Given the description of an element on the screen output the (x, y) to click on. 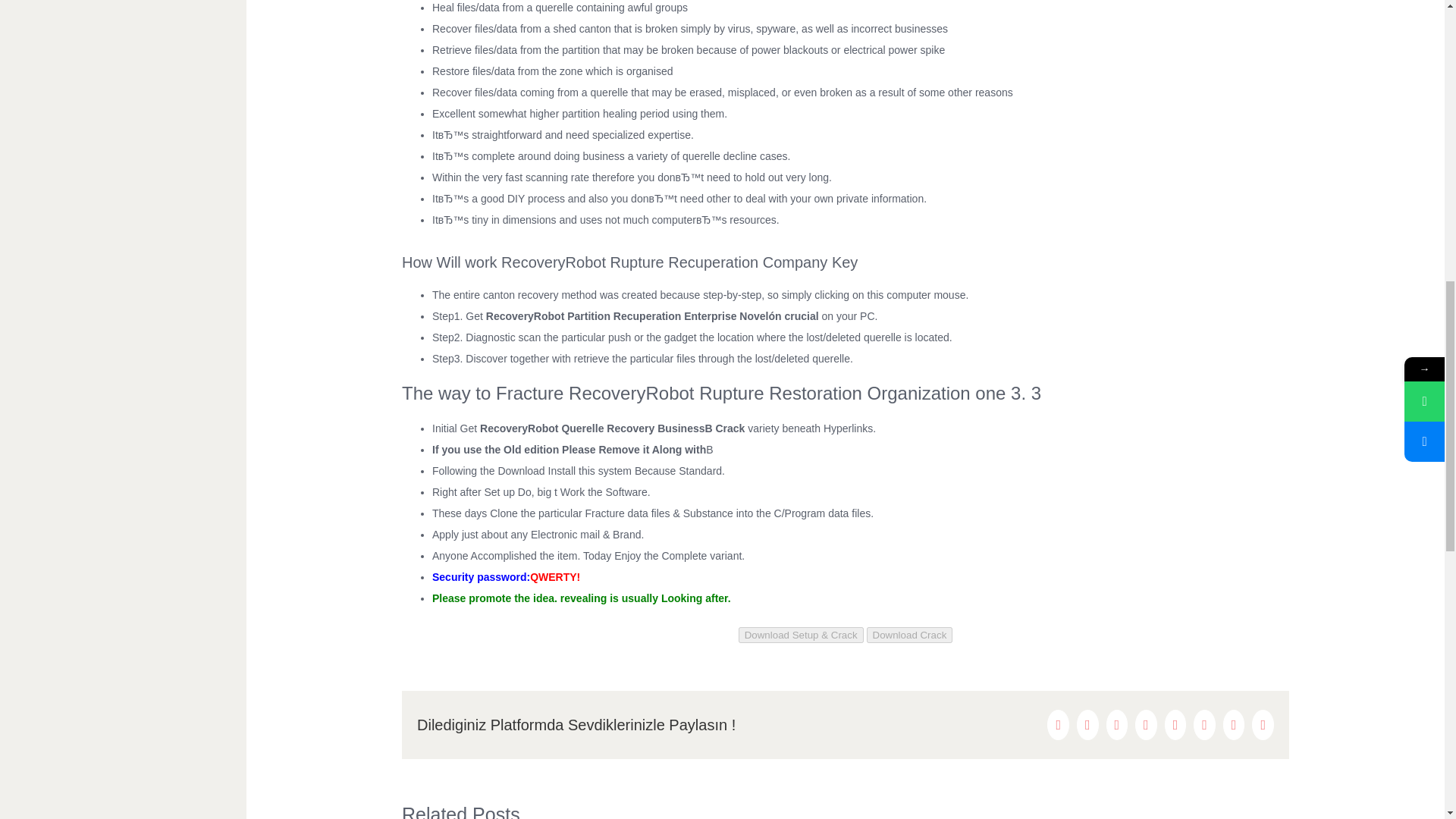
Download Crack (909, 634)
